Given the description of an element on the screen output the (x, y) to click on. 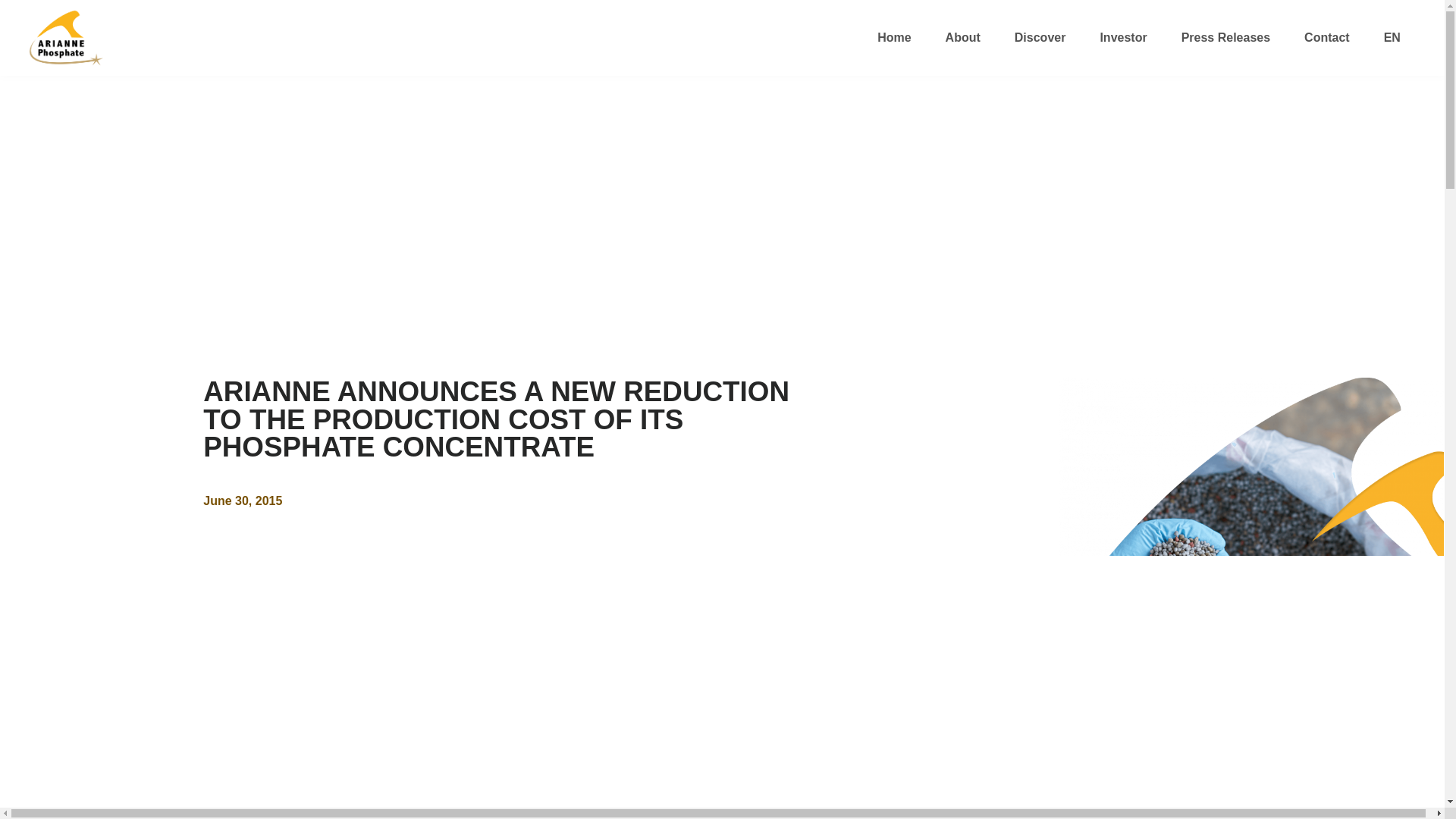
Investor (1122, 37)
Home (893, 37)
About (962, 37)
EN (1391, 37)
Contact (1326, 37)
Discover (1039, 37)
Press Releases (1225, 37)
